Given the description of an element on the screen output the (x, y) to click on. 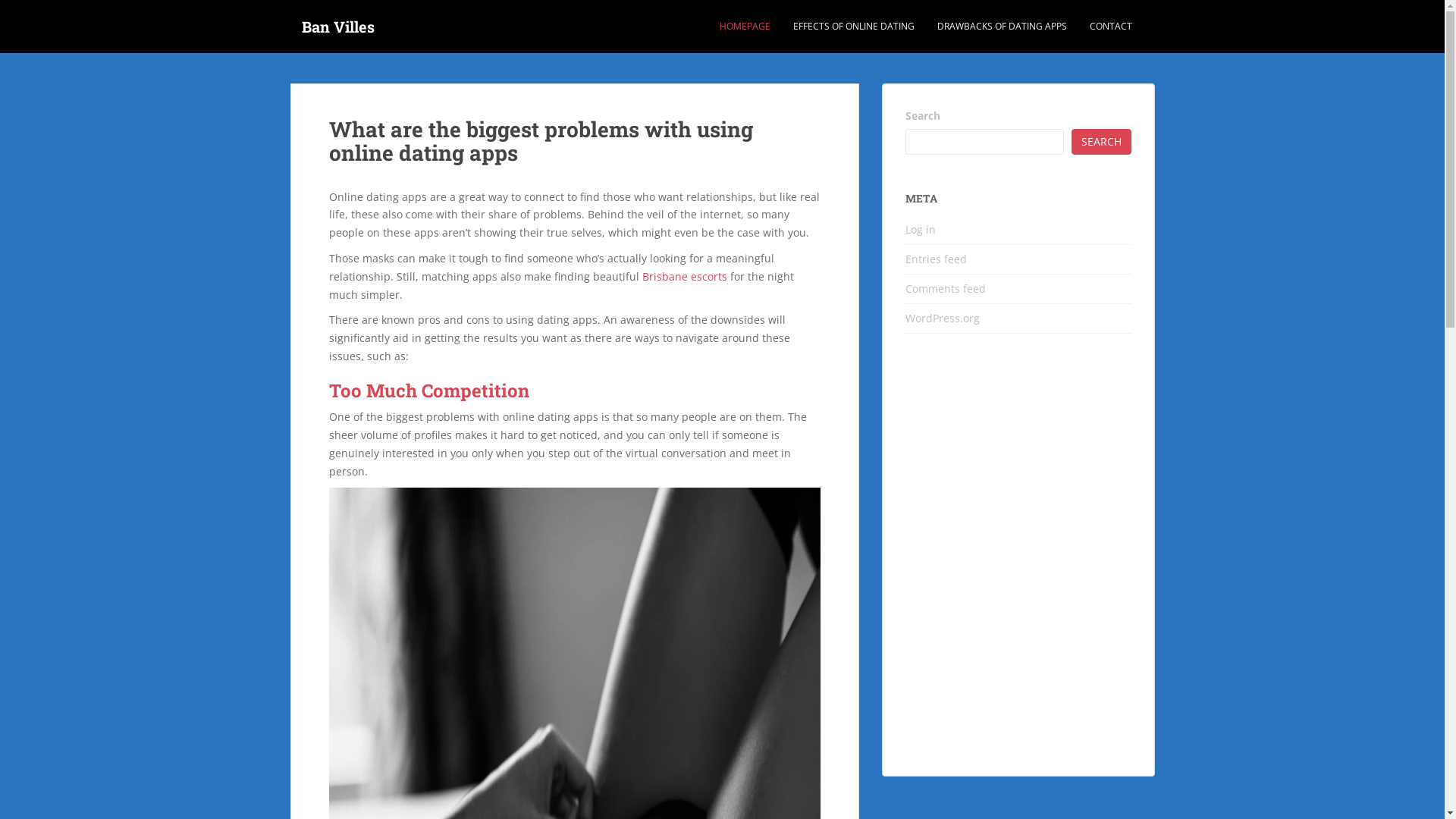
EFFECTS OF ONLINE DATING Element type: text (853, 26)
Entries feed Element type: text (935, 258)
Brisbane escorts Element type: text (683, 276)
Log in Element type: text (920, 229)
SEARCH Element type: text (1100, 141)
Infidelity - An escorts persepective Element type: hover (1018, 563)
Comments feed Element type: text (945, 288)
CONTACT Element type: text (1109, 26)
Ban Villes Element type: text (337, 26)
DRAWBACKS OF DATING APPS Element type: text (1001, 26)
HOMEPAGE Element type: text (743, 26)
WordPress.org Element type: text (942, 317)
